Given the description of an element on the screen output the (x, y) to click on. 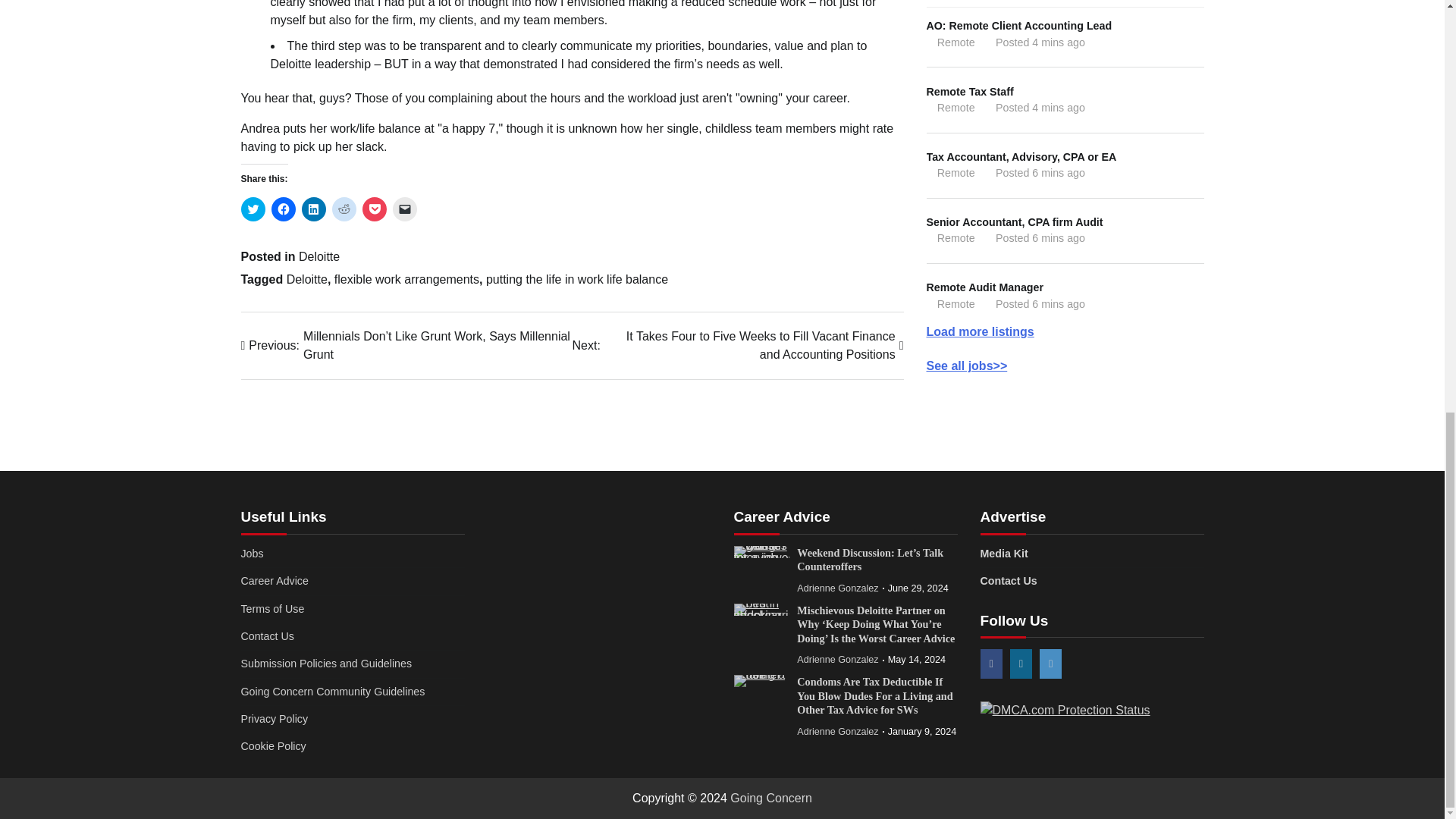
Click to share on Pocket (374, 209)
putting the life in work life balance (577, 278)
Click to share on Reddit (343, 209)
Click to share on Facebook (282, 209)
Deloitte (306, 278)
Click to share on Twitter (252, 209)
Click to share on LinkedIn (313, 209)
Click to email a link to a friend (404, 209)
Deloitte (318, 256)
flexible work arrangements (406, 278)
